Given the description of an element on the screen output the (x, y) to click on. 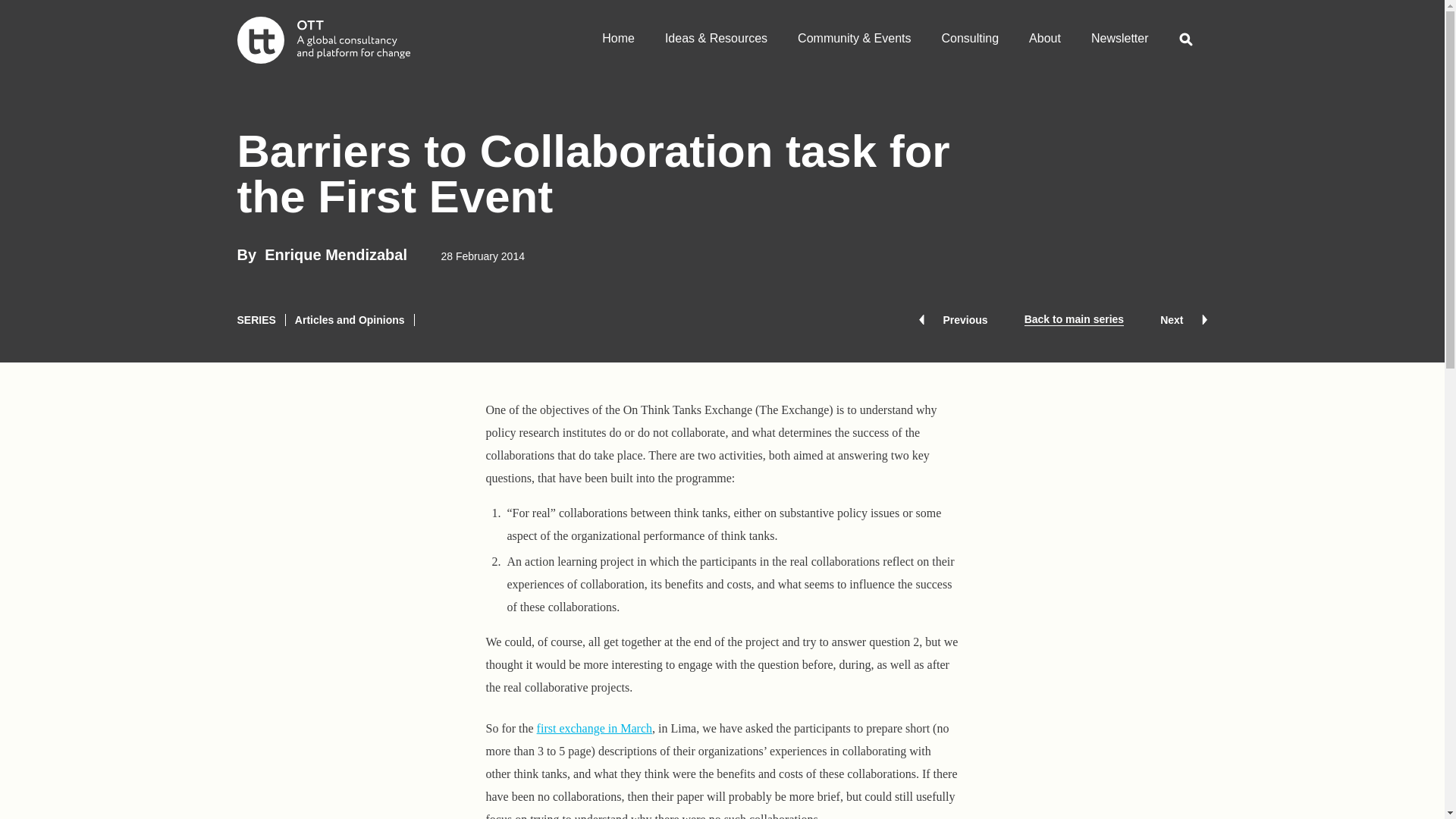
Home (617, 33)
Go to the previous article in the series (952, 319)
Newsletter (1119, 33)
Enrique Mendizabal (335, 254)
Go to the next article in the series (1183, 319)
Previous (952, 319)
Next (1183, 319)
Go to homepage (322, 39)
first exchange in March (594, 727)
Consulting (970, 33)
